Given the description of an element on the screen output the (x, y) to click on. 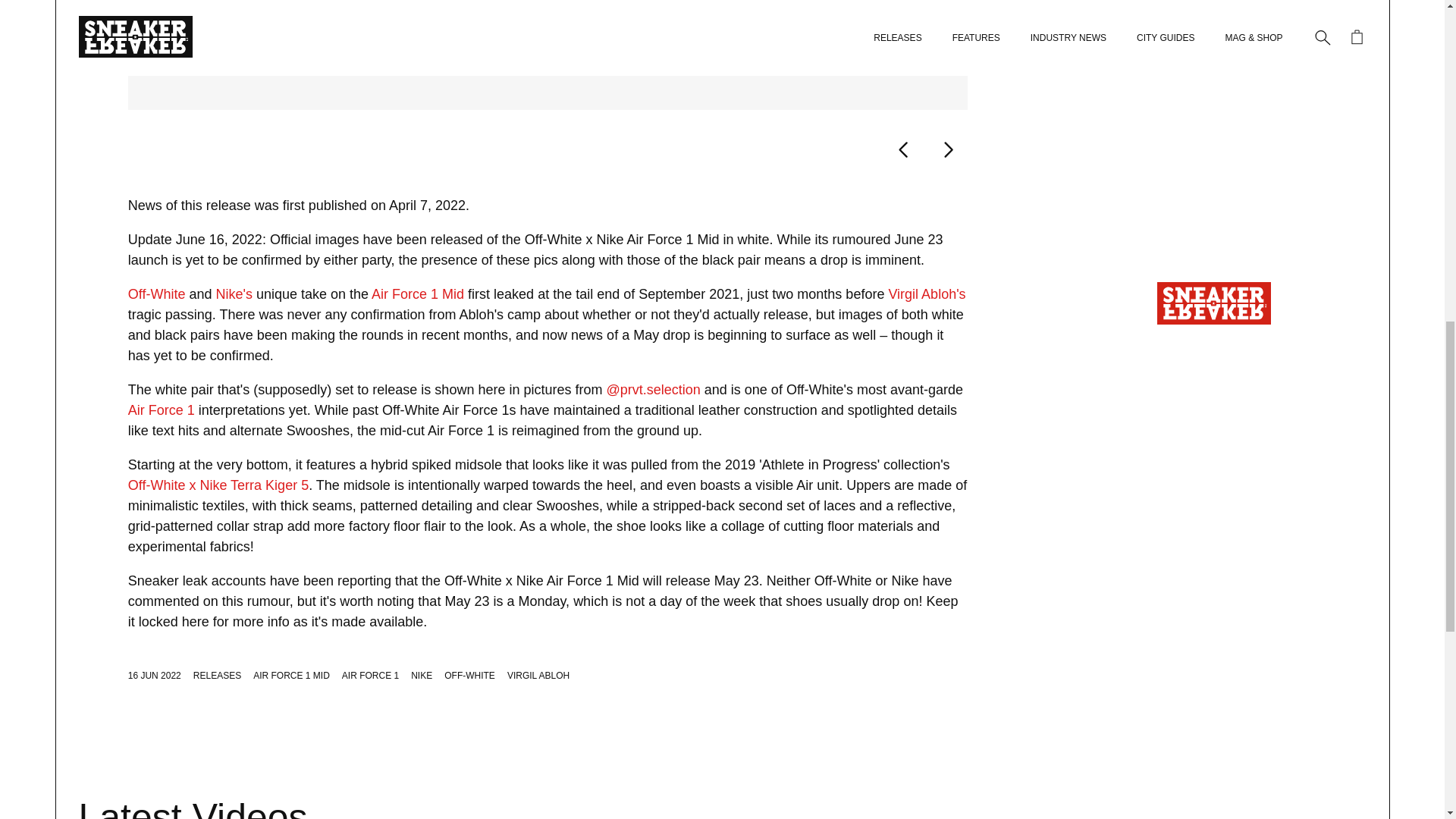
Nike's (233, 294)
OFF-WHITE (469, 675)
NIKE (421, 675)
Virgil Abloh's (926, 294)
Air Force 1 (161, 409)
VIRGIL ABLOH (537, 675)
RELEASES (217, 675)
Off-White (157, 294)
Off-White x Nike Terra Kiger 5 (218, 485)
AIR FORCE 1 MID (291, 675)
Air Force 1 Mid (417, 294)
AIR FORCE 1 (370, 675)
